Given the description of an element on the screen output the (x, y) to click on. 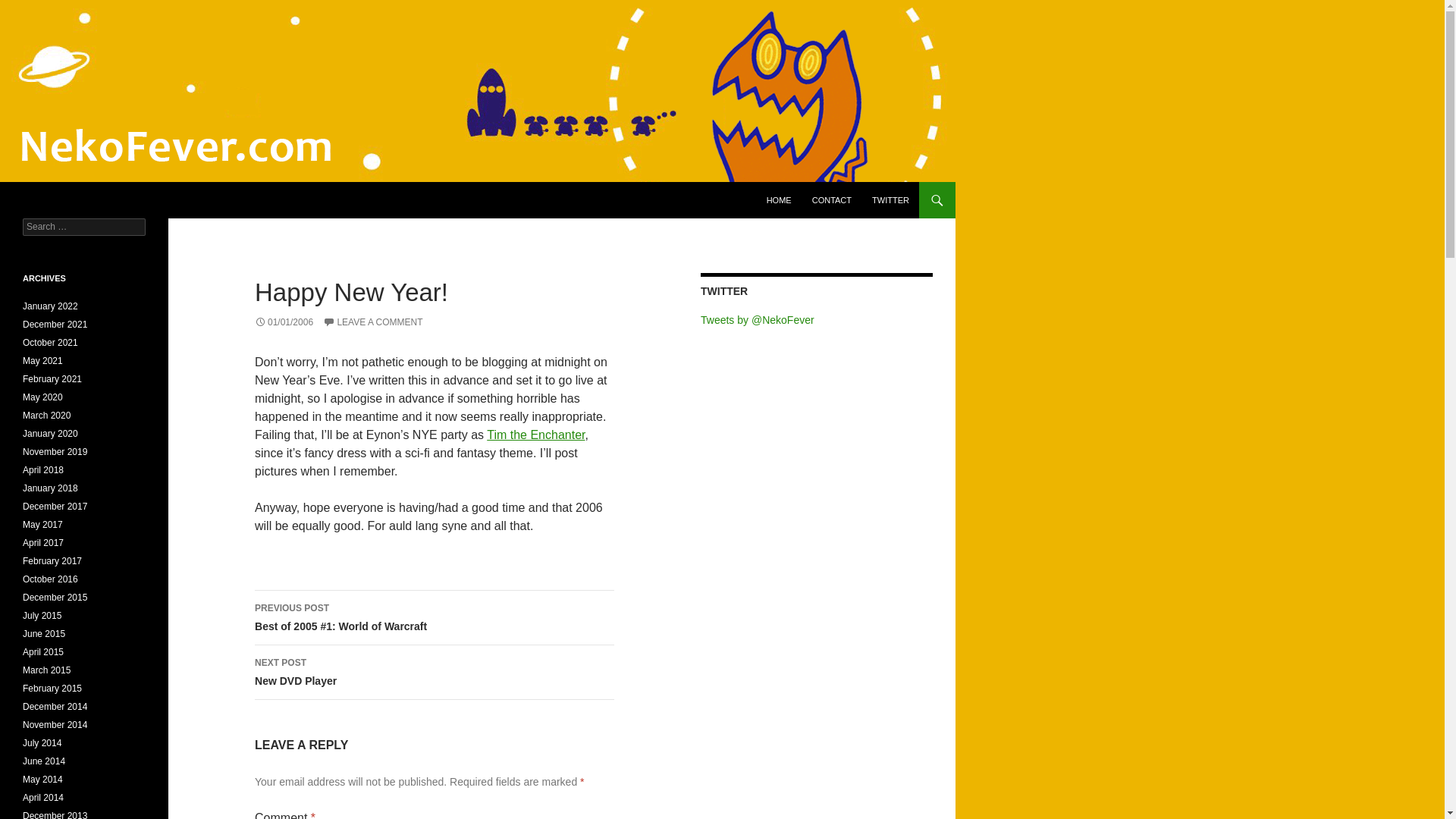
April 2015 (43, 652)
May 2017 (42, 524)
Tim the Enchanter (535, 434)
March 2020 (46, 415)
February 2017 (52, 561)
CONTACT (831, 199)
November 2019 (55, 451)
February 2021 (52, 378)
April 2018 (43, 470)
January 2022 (50, 306)
October 2016 (50, 579)
May 2021 (42, 360)
Search (30, 8)
NekoFever (58, 199)
